Given the description of an element on the screen output the (x, y) to click on. 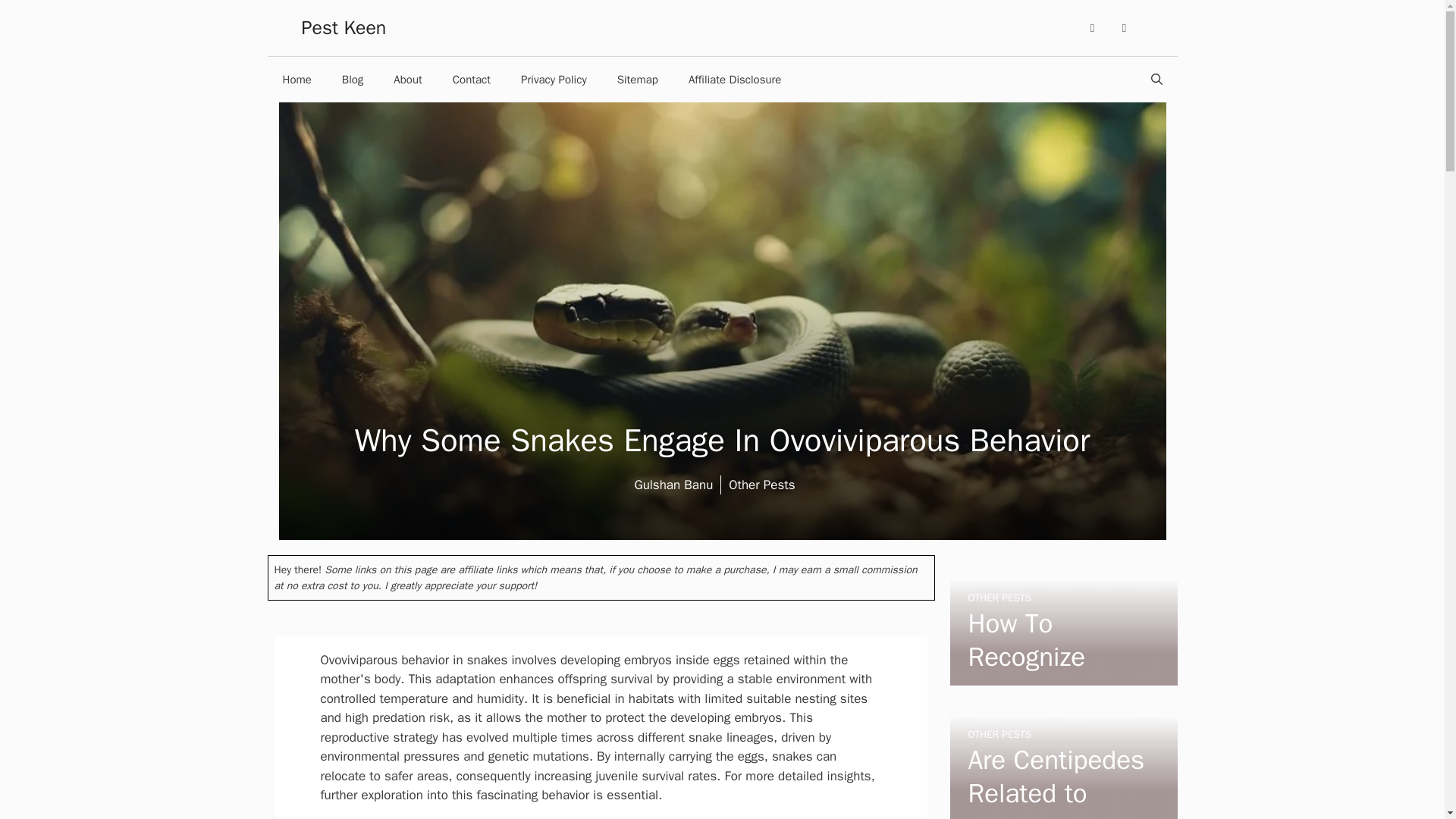
Blog (352, 79)
How To Recognize Predatory Behaviors In Snakes (1039, 690)
Affiliate Disclosure (734, 79)
Twitter (1124, 27)
How To Recognize Predatory Behaviors In Snakes (1062, 675)
Are Centipedes Related to Millipedes (1056, 780)
OTHER PESTS (999, 597)
Facebook (1092, 27)
Sitemap (637, 79)
Privacy Policy (553, 79)
Contact (471, 79)
About (407, 79)
Home (296, 79)
Pest Keen (344, 27)
OTHER PESTS (999, 734)
